Given the description of an element on the screen output the (x, y) to click on. 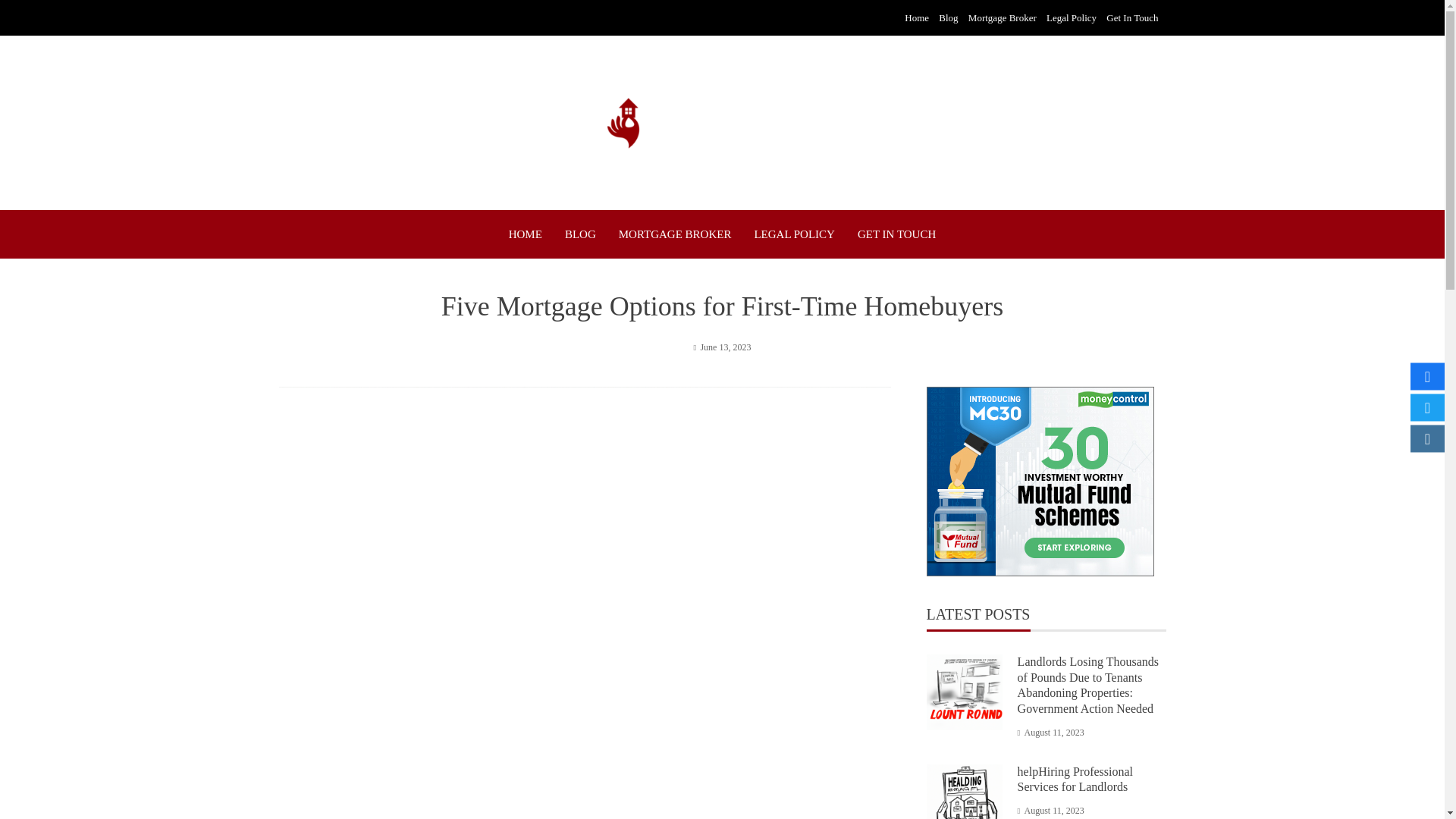
MORTGAGE BROKER (675, 233)
Legal Policy (1071, 17)
Blog (948, 17)
BLOG (579, 233)
Home (916, 17)
Get In Touch (1131, 17)
GET IN TOUCH (896, 233)
LEGAL POLICY (794, 233)
helpHiring Professional Services for Landlords (1074, 778)
